Given the description of an element on the screen output the (x, y) to click on. 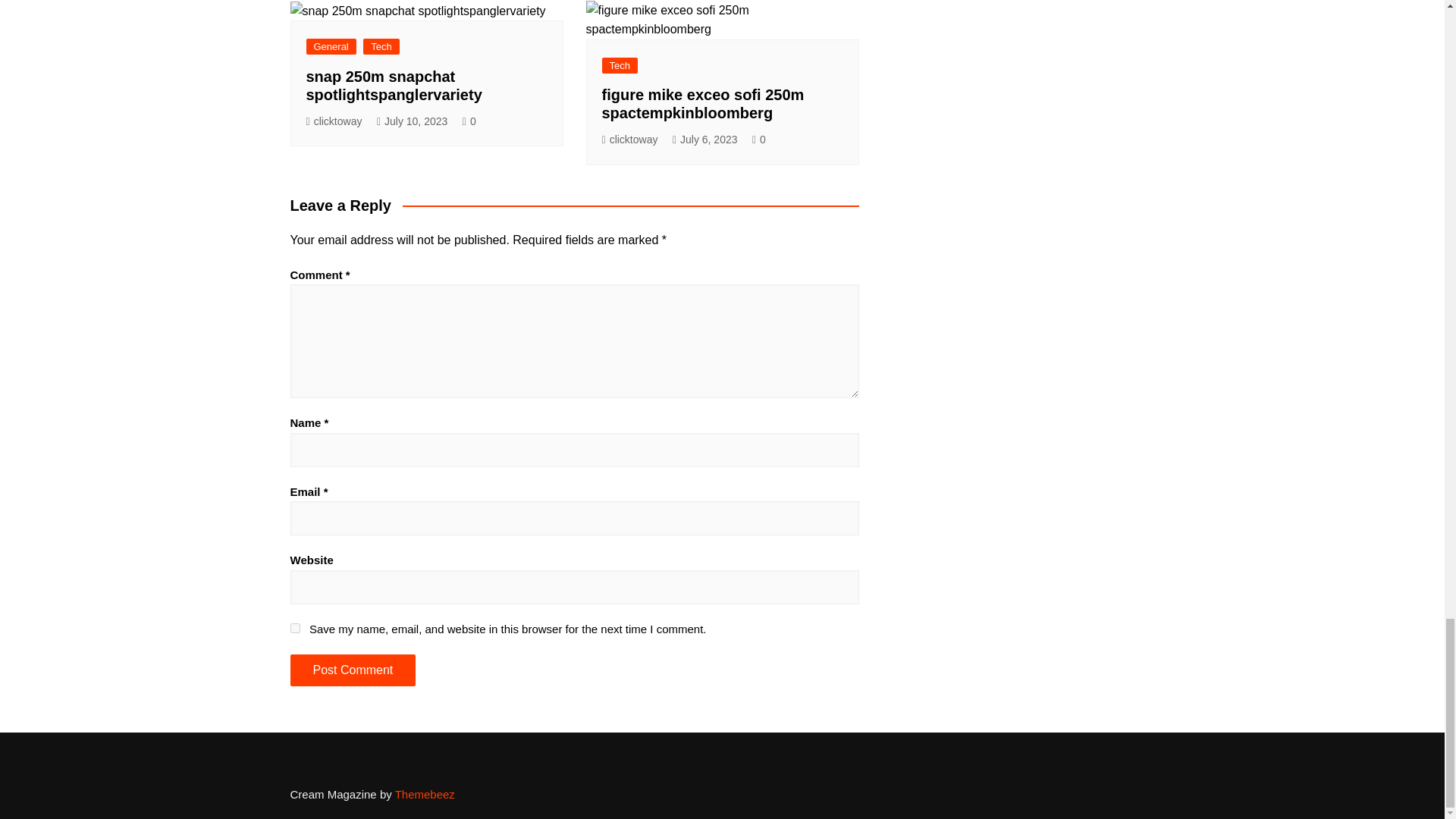
yes (294, 628)
Post Comment (351, 670)
